Given the description of an element on the screen output the (x, y) to click on. 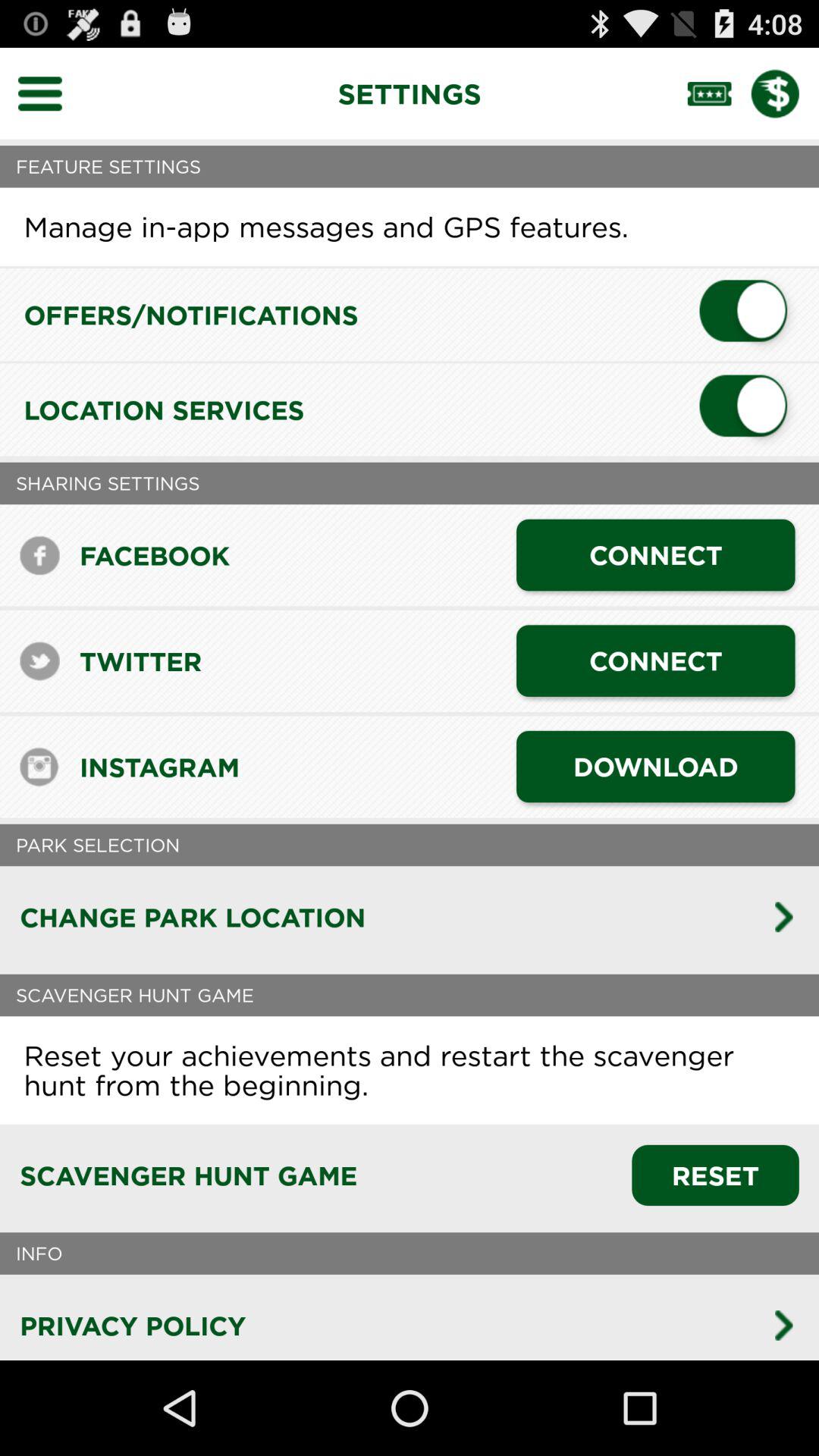
turn on/off (749, 409)
